Given the description of an element on the screen output the (x, y) to click on. 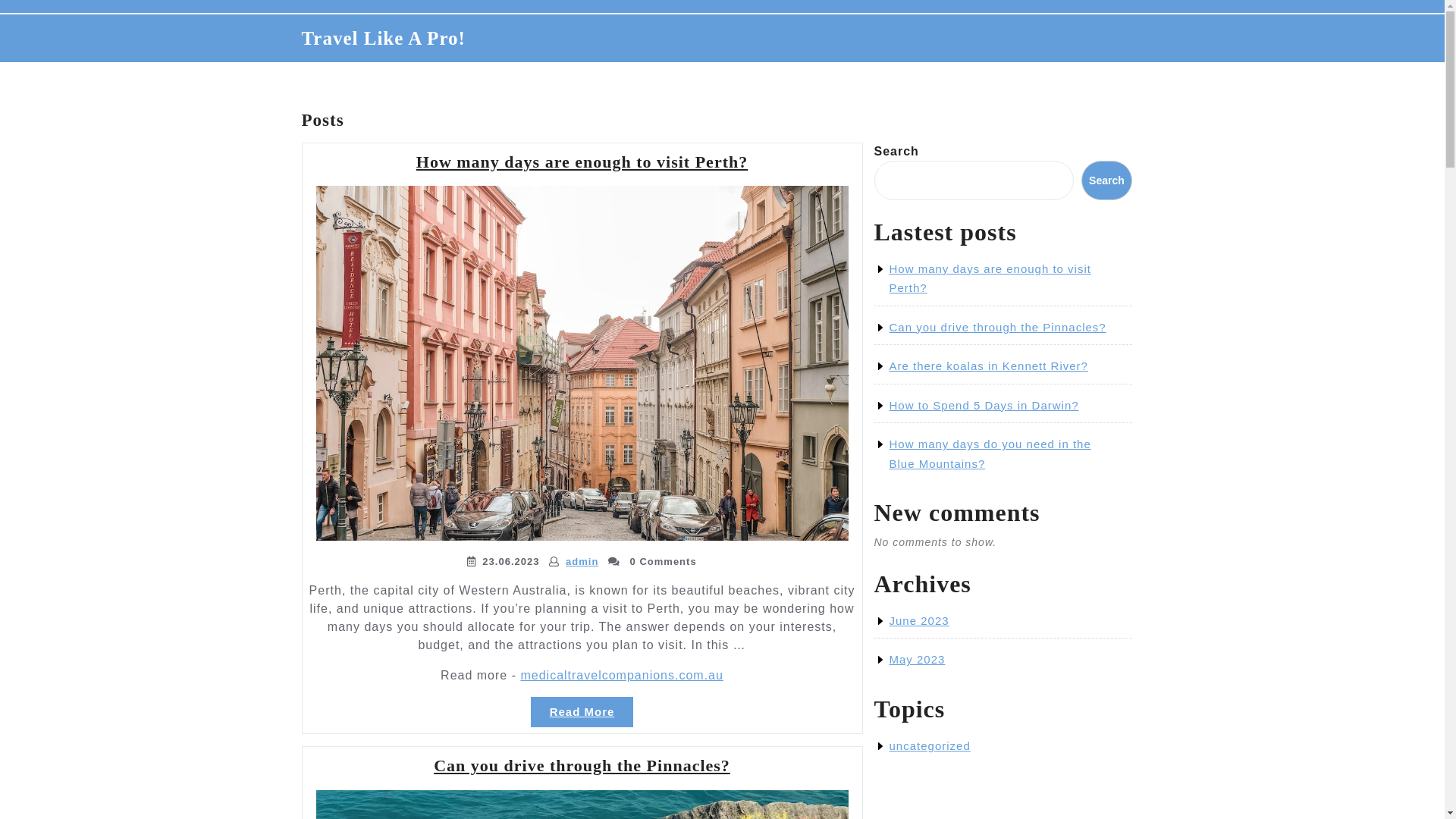
medicaltravelcompanions.com.au Element type: text (621, 674)
admin Element type: text (581, 561)
Can you drive through the Pinnacles? Element type: text (581, 765)
Search Element type: text (1106, 180)
How many days are enough to visit Perth? Element type: text (989, 278)
How to Spend 5 Days in Darwin? Element type: text (983, 404)
How many days do you need in the Blue Mountains? Element type: text (989, 453)
How many days are enough to visit Perth? Element type: text (581, 161)
June 2023 Element type: text (918, 620)
Can you drive through the Pinnacles? Element type: text (996, 326)
Travel Like A Pro! Element type: text (383, 38)
uncategorized Element type: text (928, 745)
Are there koalas in Kennett River? Element type: text (987, 365)
May 2023 Element type: text (916, 658)
